Given the description of an element on the screen output the (x, y) to click on. 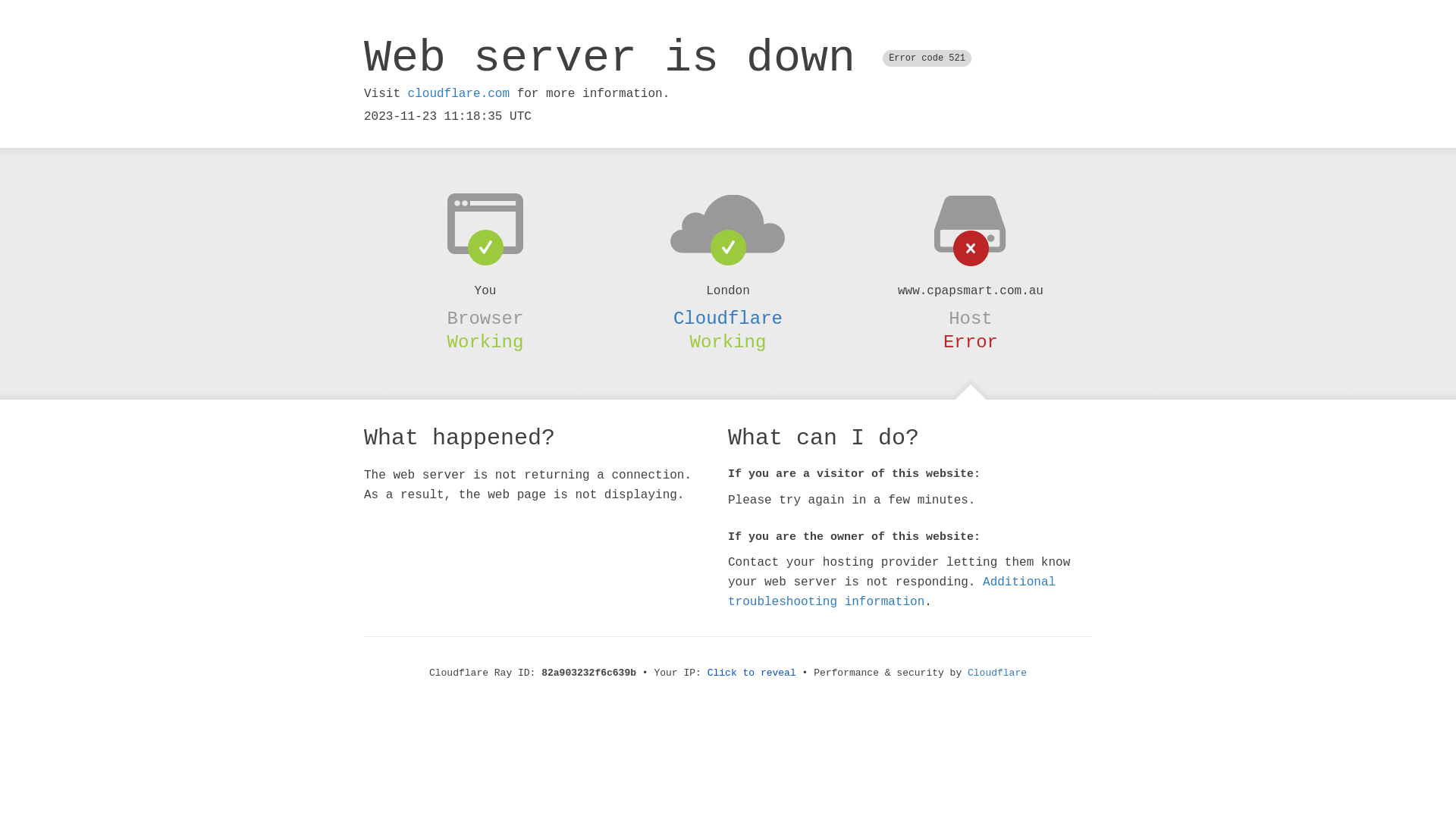
Additional troubleshooting information Element type: text (891, 591)
Cloudflare Element type: text (996, 672)
cloudflare.com Element type: text (458, 93)
Click to reveal Element type: text (751, 672)
Cloudflare Element type: text (727, 318)
